Given the description of an element on the screen output the (x, y) to click on. 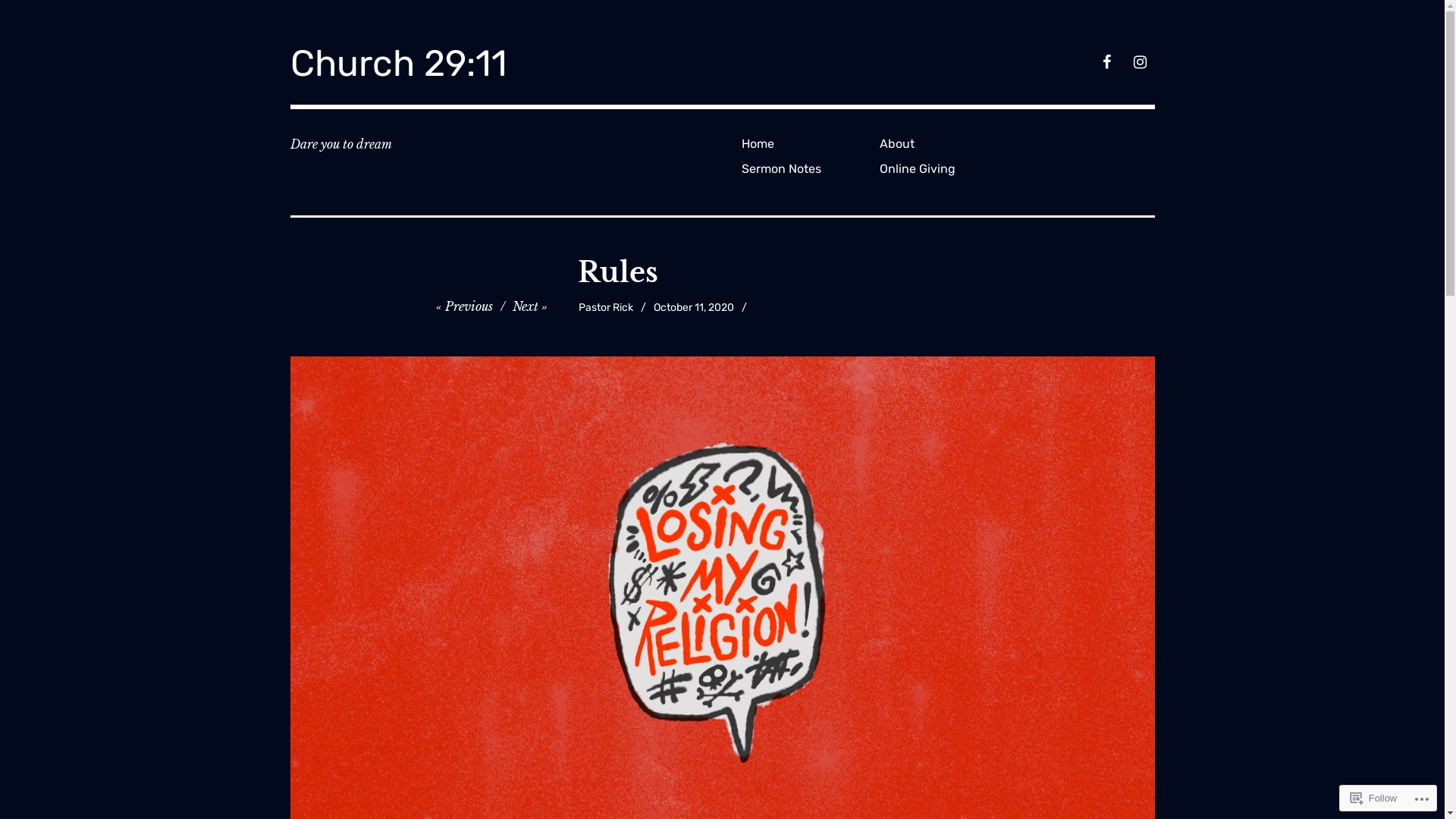
Uncategorized Element type: text (789, 307)
Pastor Rick Element type: text (605, 307)
Online Giving Element type: text (942, 168)
October 11, 2020 Element type: text (693, 307)
Church 29:11 Element type: text (397, 62)
Next Element type: text (529, 305)
Instagram Element type: text (1138, 63)
Sermon Notes Element type: text (804, 168)
About Element type: text (942, 143)
Home Element type: text (804, 143)
Facebook Element type: text (1105, 63)
Follow Element type: text (1373, 797)
Previous Element type: text (464, 305)
